Given the description of an element on the screen output the (x, y) to click on. 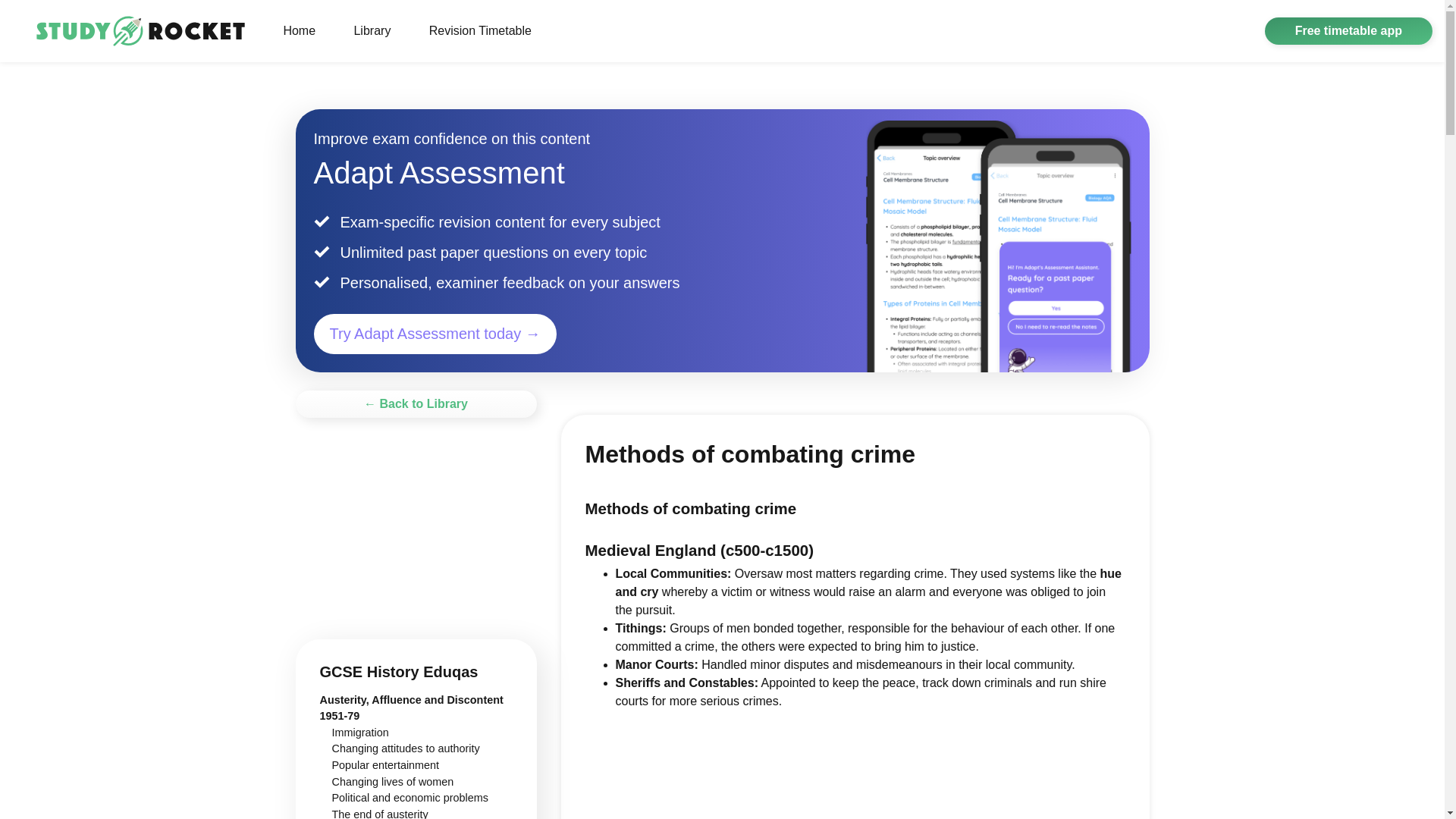
Popular entertainment (385, 765)
Revision Timetable (479, 30)
Home (298, 30)
Political and economic problems (409, 797)
Changing lives of women (392, 781)
Immigration (359, 732)
The end of austerity (379, 813)
Free timetable app (1348, 31)
Library (371, 30)
Changing attitudes to authority (405, 748)
